Given the description of an element on the screen output the (x, y) to click on. 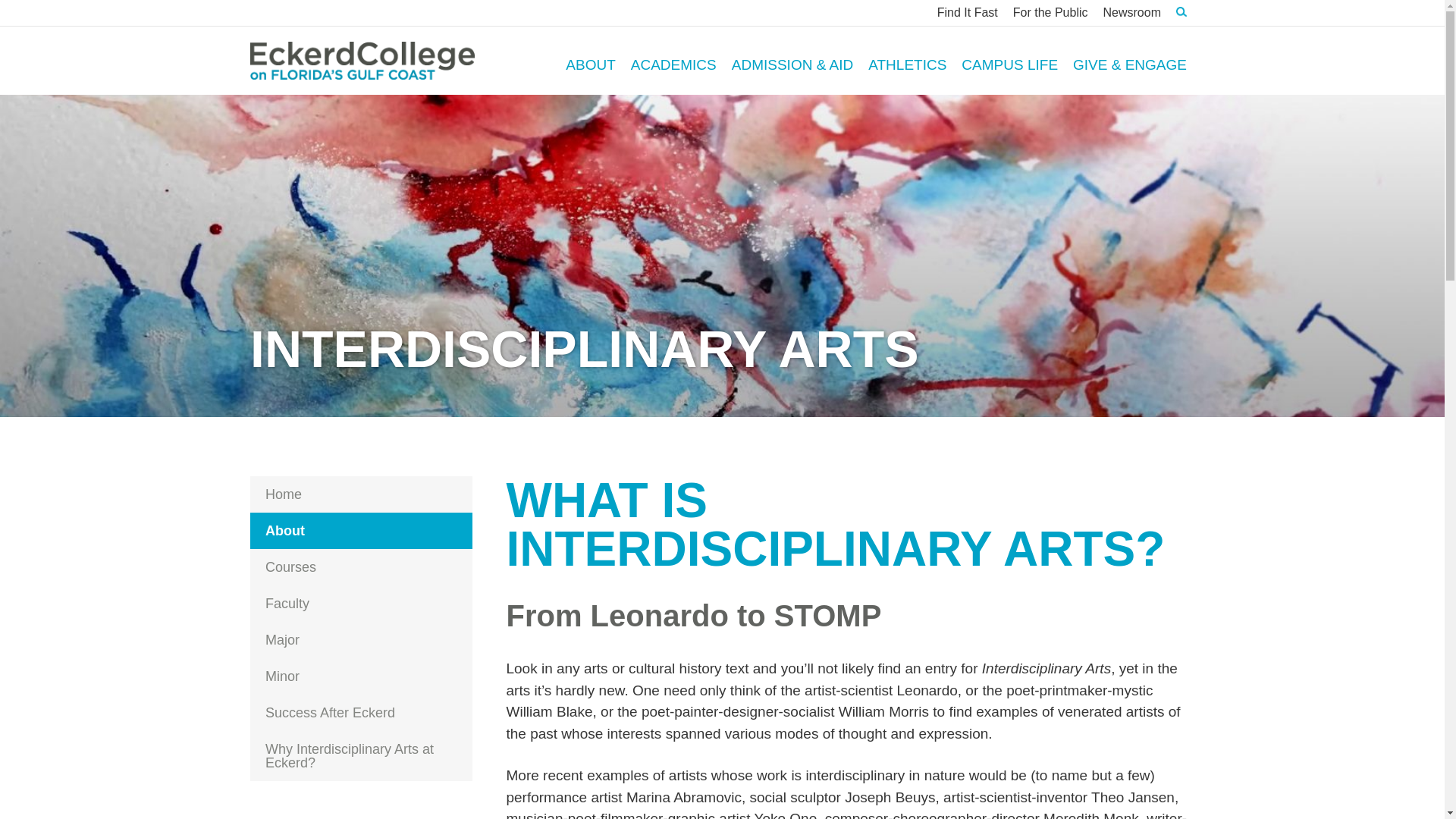
Newsroom (1132, 12)
ABOUT (590, 59)
For the Public (1051, 12)
Find It Fast (968, 12)
Go (1163, 59)
globe (263, 818)
ACADEMICS (673, 59)
